Given the description of an element on the screen output the (x, y) to click on. 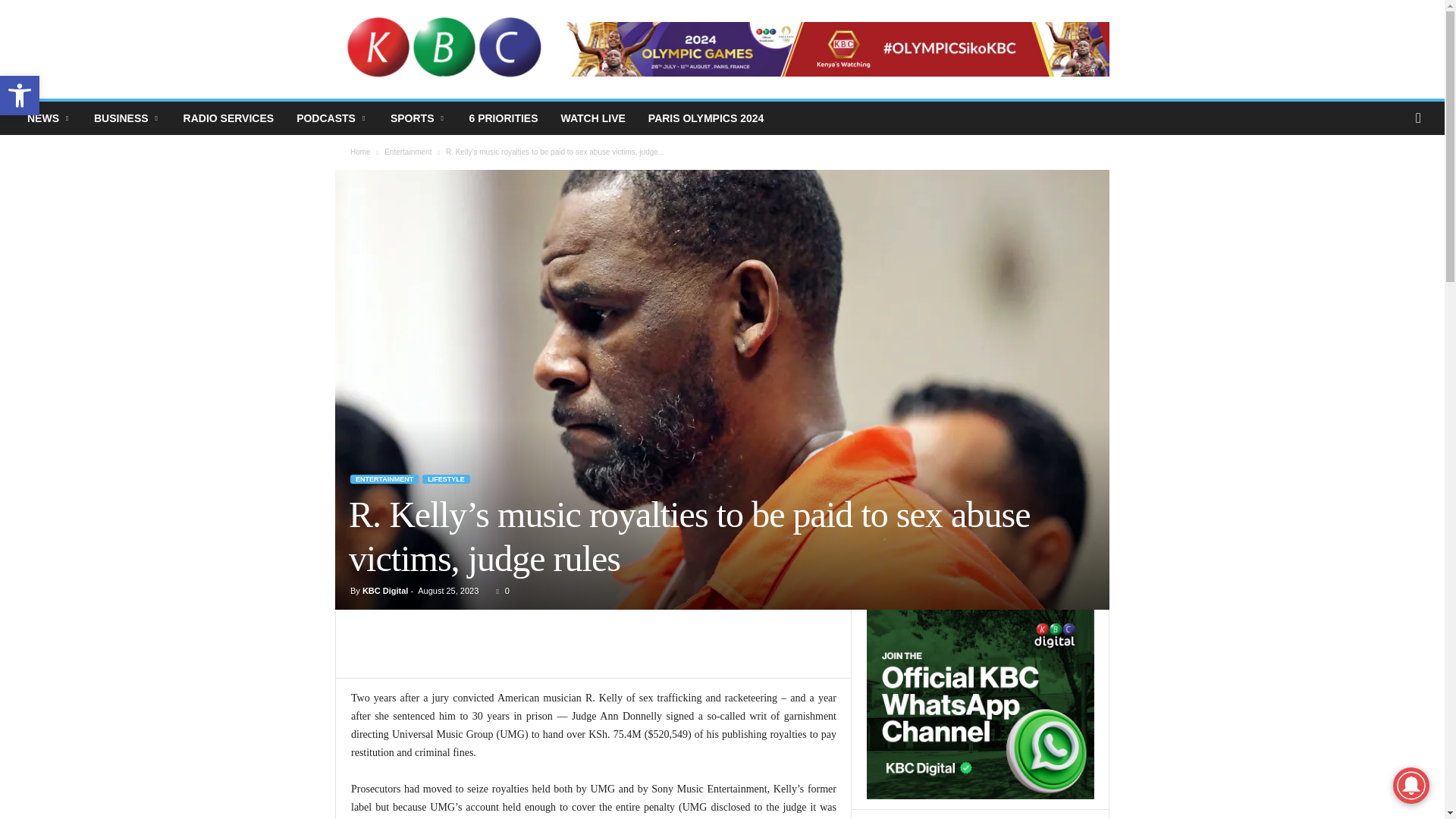
Accessibility Tools (19, 95)
Accessibility Tools (19, 95)
